Given the description of an element on the screen output the (x, y) to click on. 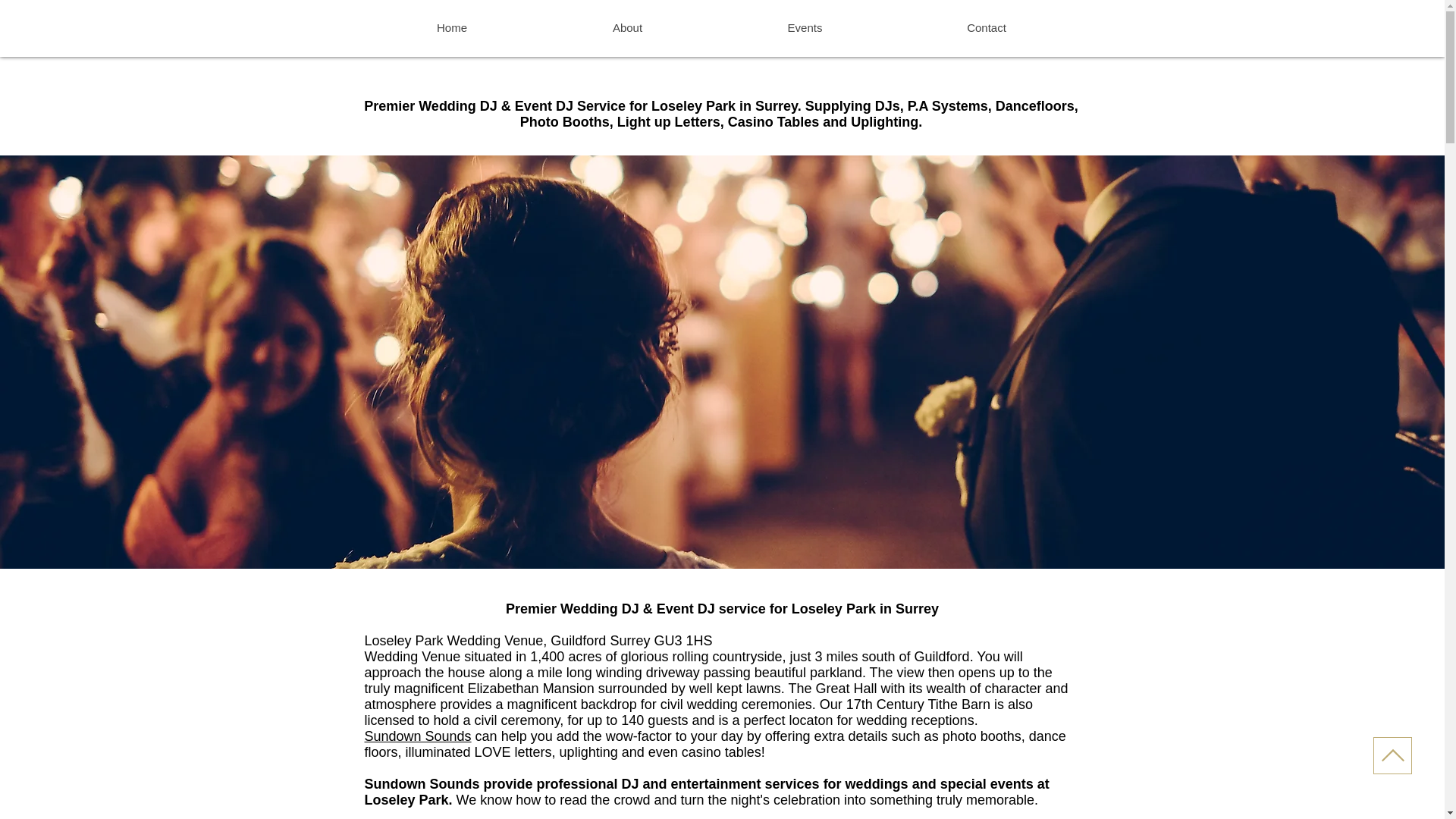
About (627, 27)
Contact (986, 27)
Home (451, 27)
Sundown Sounds (417, 735)
Events (803, 27)
